Given the description of an element on the screen output the (x, y) to click on. 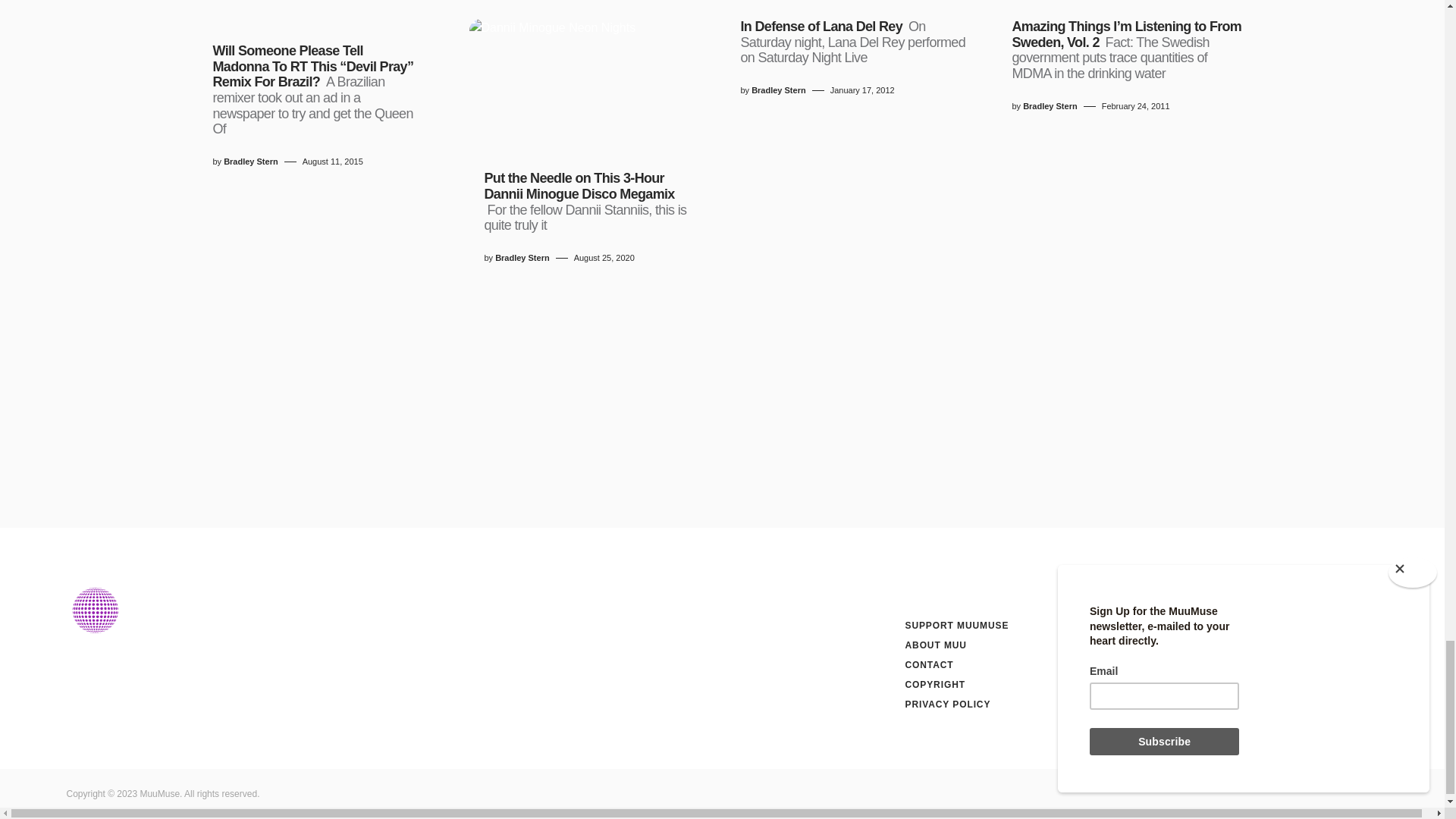
View all posts by Bradley Stern (778, 90)
View all posts by Bradley Stern (251, 161)
View all posts by Bradley Stern (522, 257)
View all posts by Bradley Stern (1050, 106)
